Given the description of an element on the screen output the (x, y) to click on. 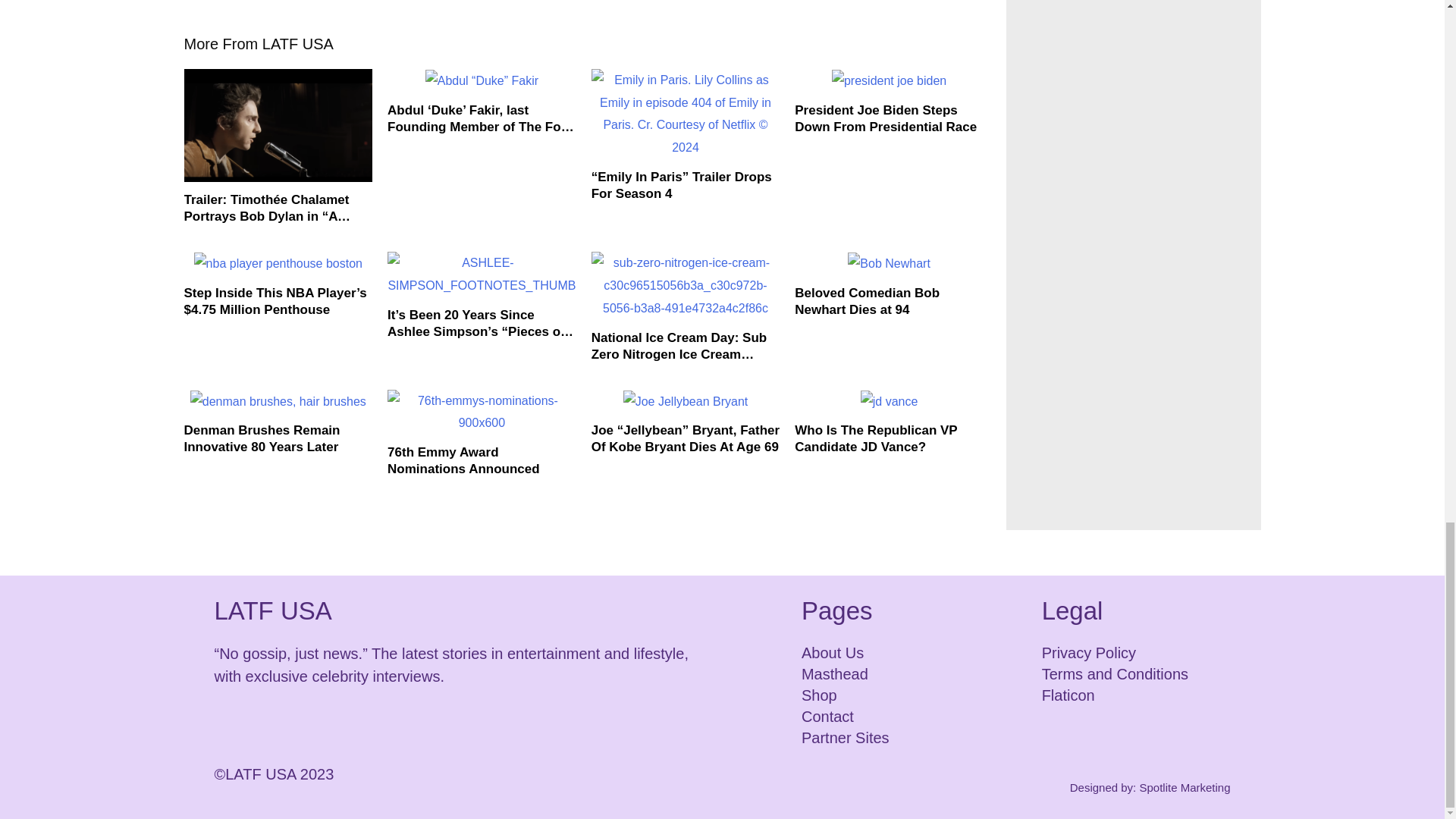
Joe Jellybean Bryant (685, 401)
Bob Newhart (888, 263)
timothee chalamet, bob dylan (277, 124)
president joe biden (888, 80)
nba player penthouse boston (277, 263)
denman brushes, hair brushes (278, 401)
jd vance (889, 401)
